Given the description of an element on the screen output the (x, y) to click on. 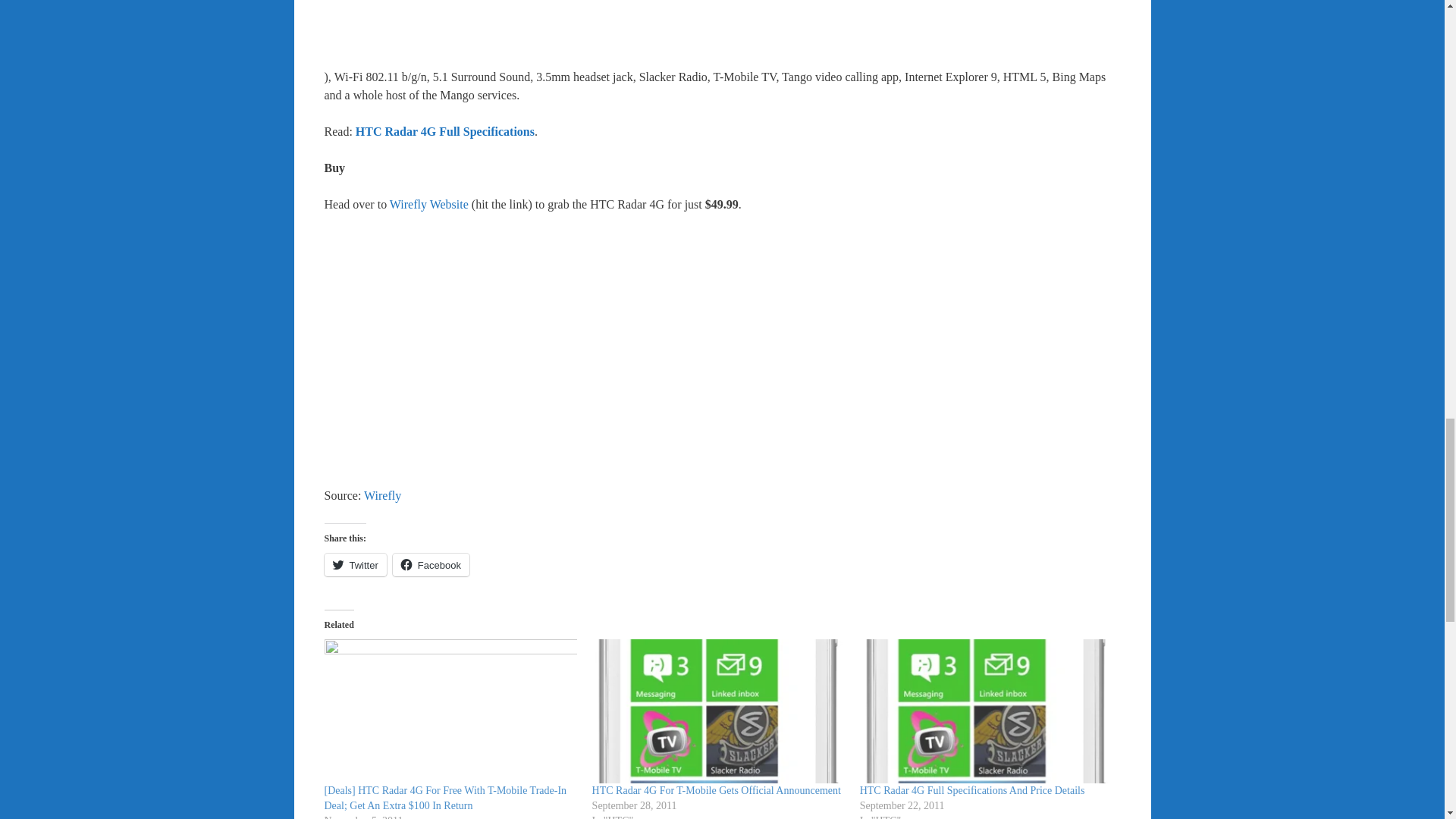
HTC Radar 4G Full Specifications And Price Details (972, 790)
HTC Radar 4G Full Specifications And Price Details (986, 710)
Wirefly Website (429, 204)
Facebook (430, 564)
HTC Radar 4G For T-Mobile Gets Official Announcement (716, 790)
HTC Radar 4G's Price Cut By Wirefly (721, 347)
Click to share on Facebook (430, 564)
HTC Radar 4G Full Specifications And Price Details (972, 790)
Twitter (355, 564)
Wirefly (382, 495)
